Given the description of an element on the screen output the (x, y) to click on. 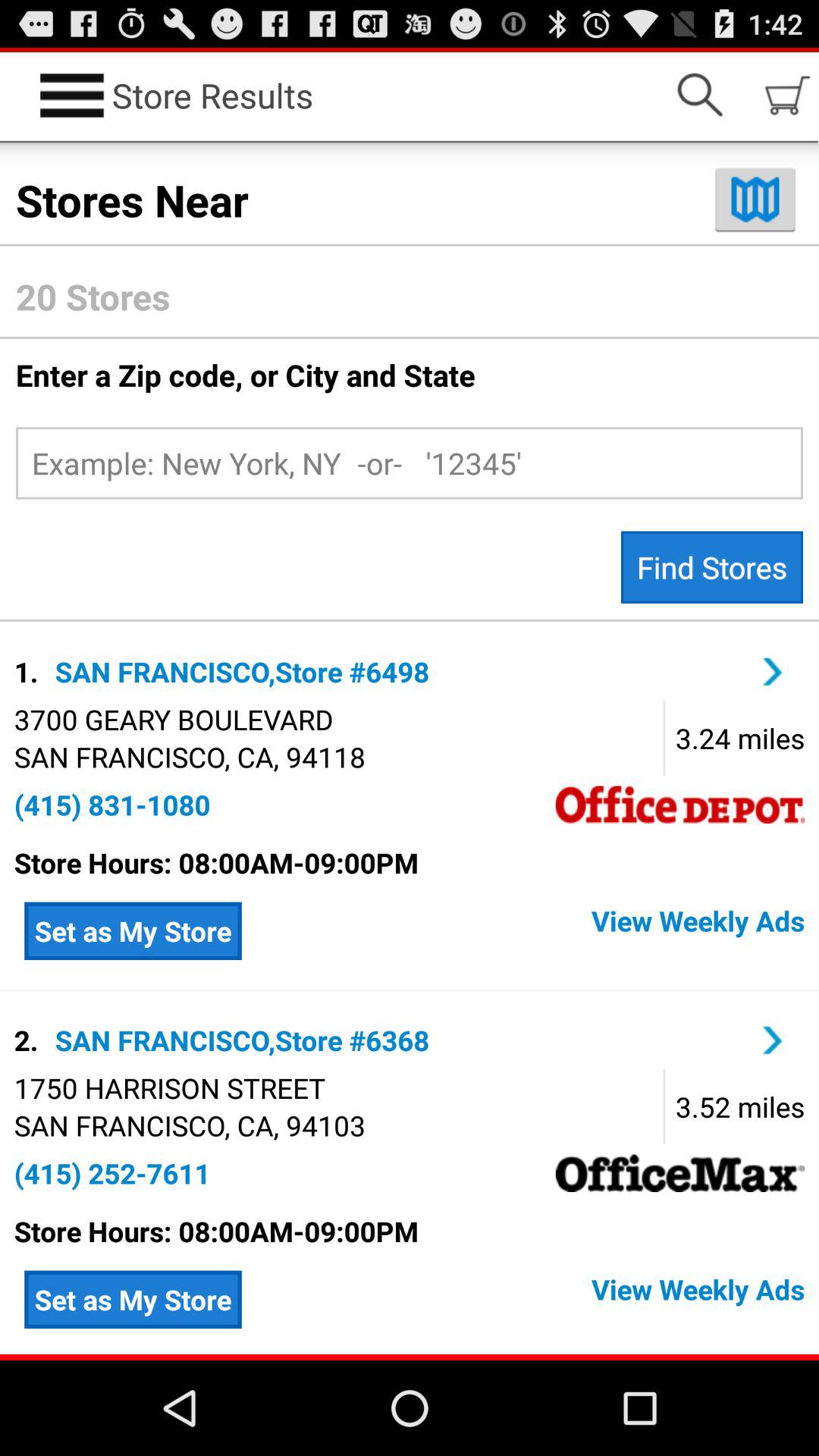
enter a zip code city or state (409, 463)
